Given the description of an element on the screen output the (x, y) to click on. 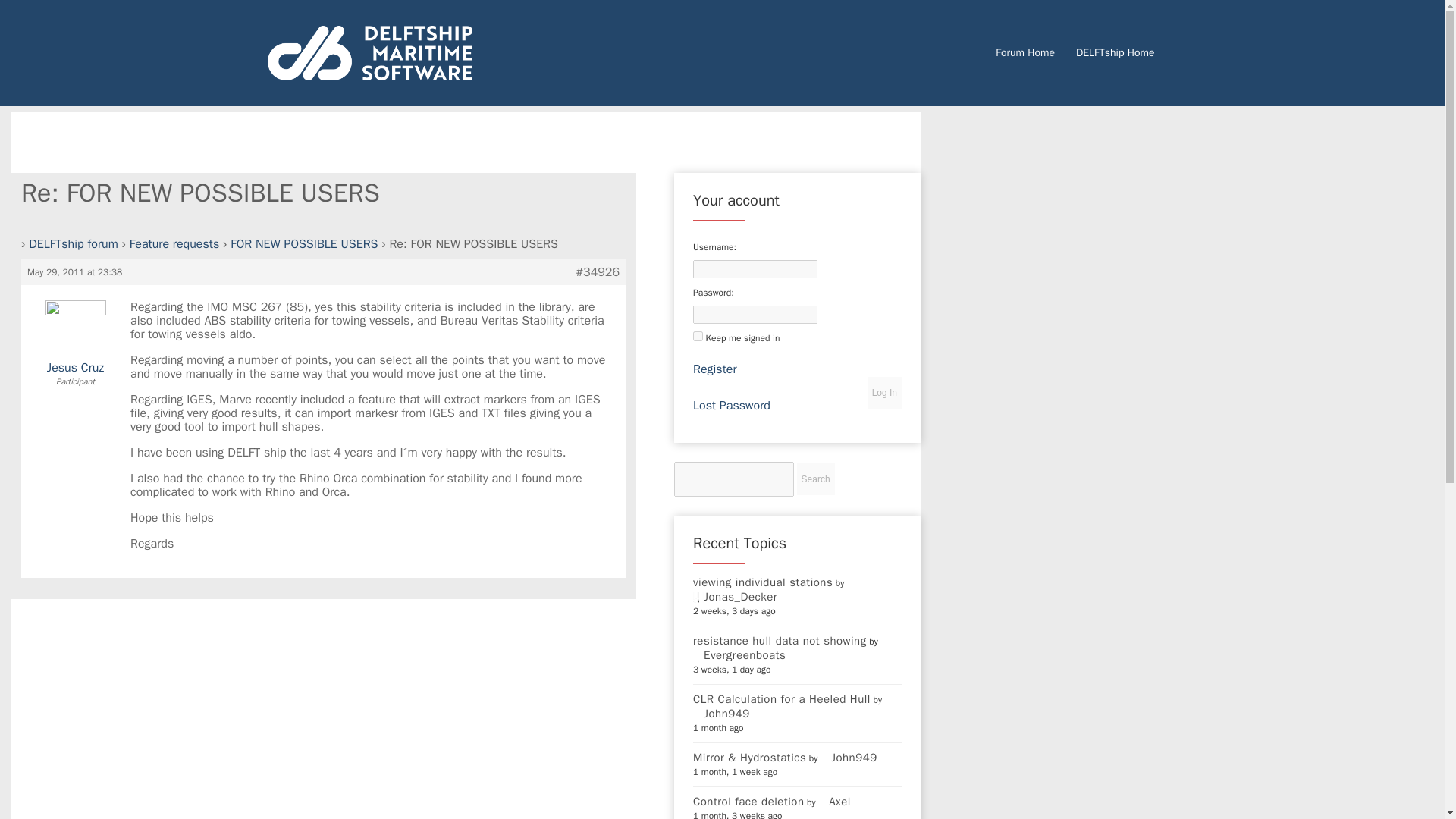
View Jesus Cruz's profile (75, 239)
forever (698, 230)
View Evergreenboats's profile (739, 549)
Register (714, 262)
CLR Calculation for a Heeled Hull (781, 592)
Lost Password (731, 299)
Lost Password (731, 299)
View Axel's profile (834, 694)
language (717, 739)
DELFTship forum (73, 137)
